Given the description of an element on the screen output the (x, y) to click on. 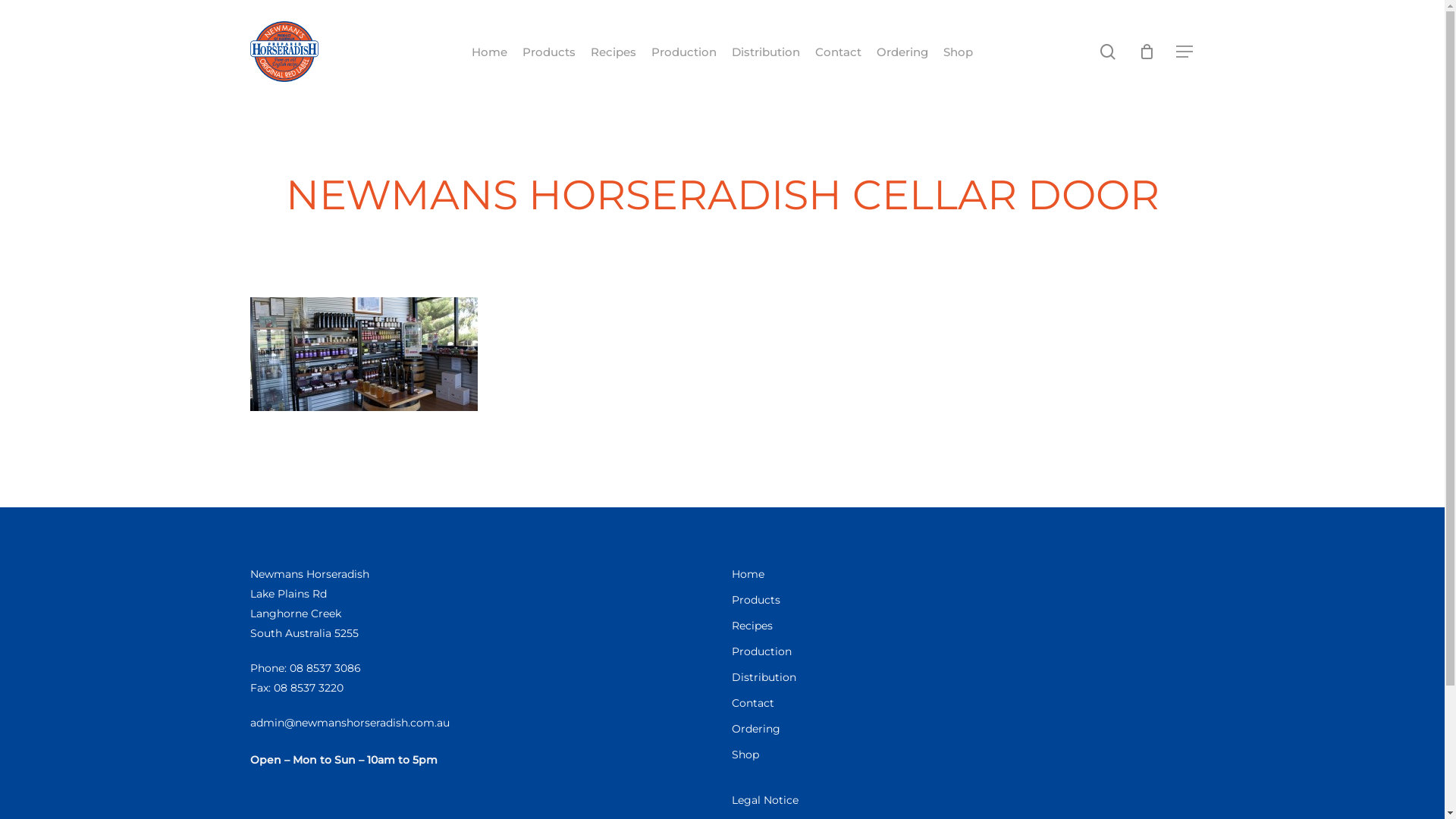
Production Element type: text (683, 50)
Legal Notice Element type: text (962, 799)
Products Element type: text (548, 50)
Products Element type: text (962, 599)
Distribution Element type: text (962, 677)
Distribution Element type: text (765, 50)
Recipes Element type: text (613, 50)
Recipes Element type: text (962, 625)
Ordering Element type: text (902, 50)
Menu Element type: text (1185, 51)
admin@newmanshorseradish.com.au Element type: text (349, 722)
Home Element type: text (489, 50)
Shop Element type: text (957, 50)
Home Element type: text (962, 573)
Shop Element type: text (962, 754)
Contact Element type: text (838, 50)
Contact Element type: text (962, 702)
Production Element type: text (962, 651)
Ordering Element type: text (962, 728)
search Element type: text (1107, 51)
